Given the description of an element on the screen output the (x, y) to click on. 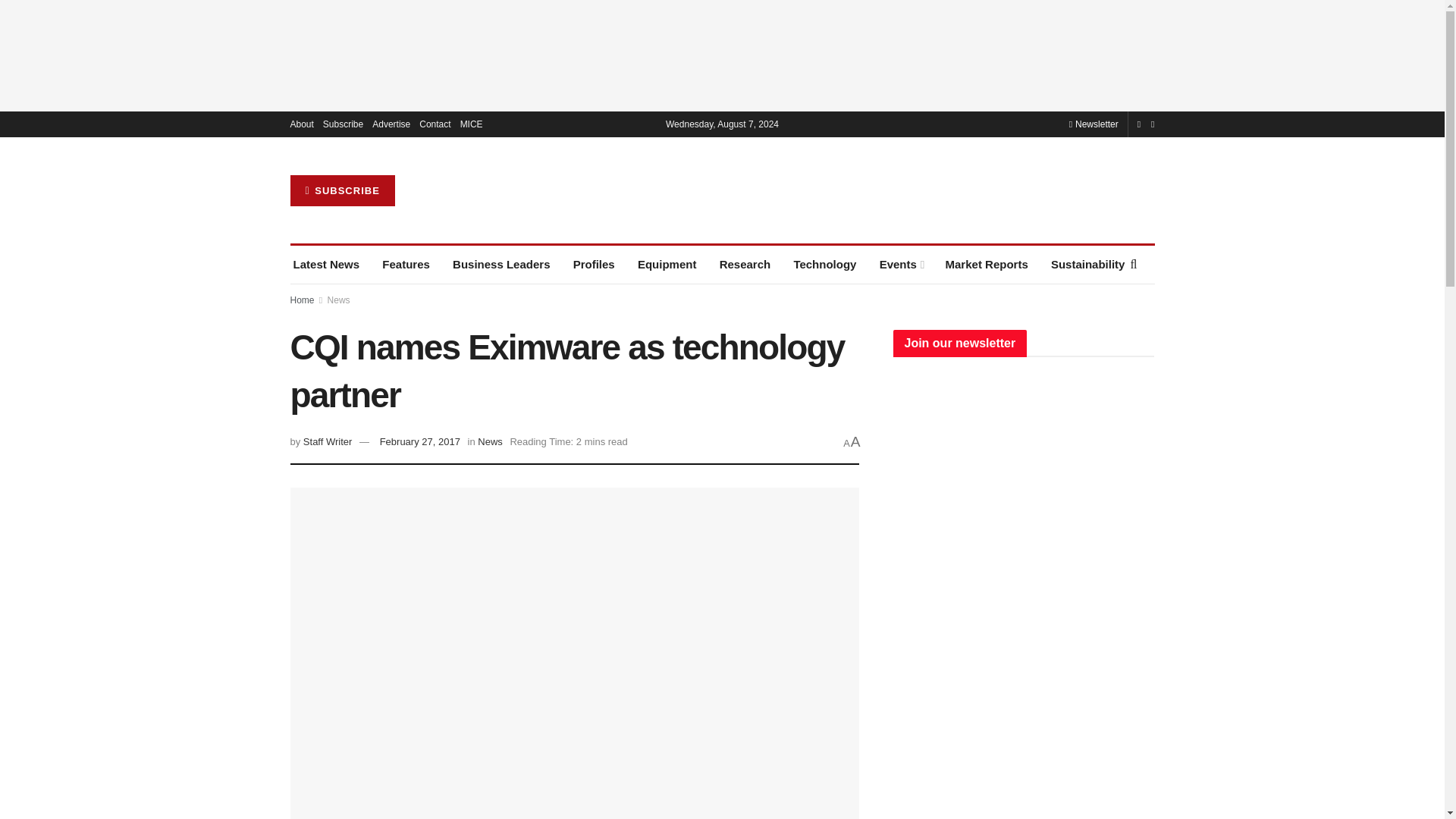
Advertise (391, 124)
Contact (434, 124)
Subscribe (342, 124)
Business Leaders (501, 264)
Sustainability (1088, 264)
Market Reports (986, 264)
Latest News (325, 264)
About (301, 124)
Technology (824, 264)
Newsletter (1093, 123)
Profiles (593, 264)
Features (405, 264)
Research (745, 264)
SUBSCRIBE (341, 190)
Equipment (667, 264)
